Given the description of an element on the screen output the (x, y) to click on. 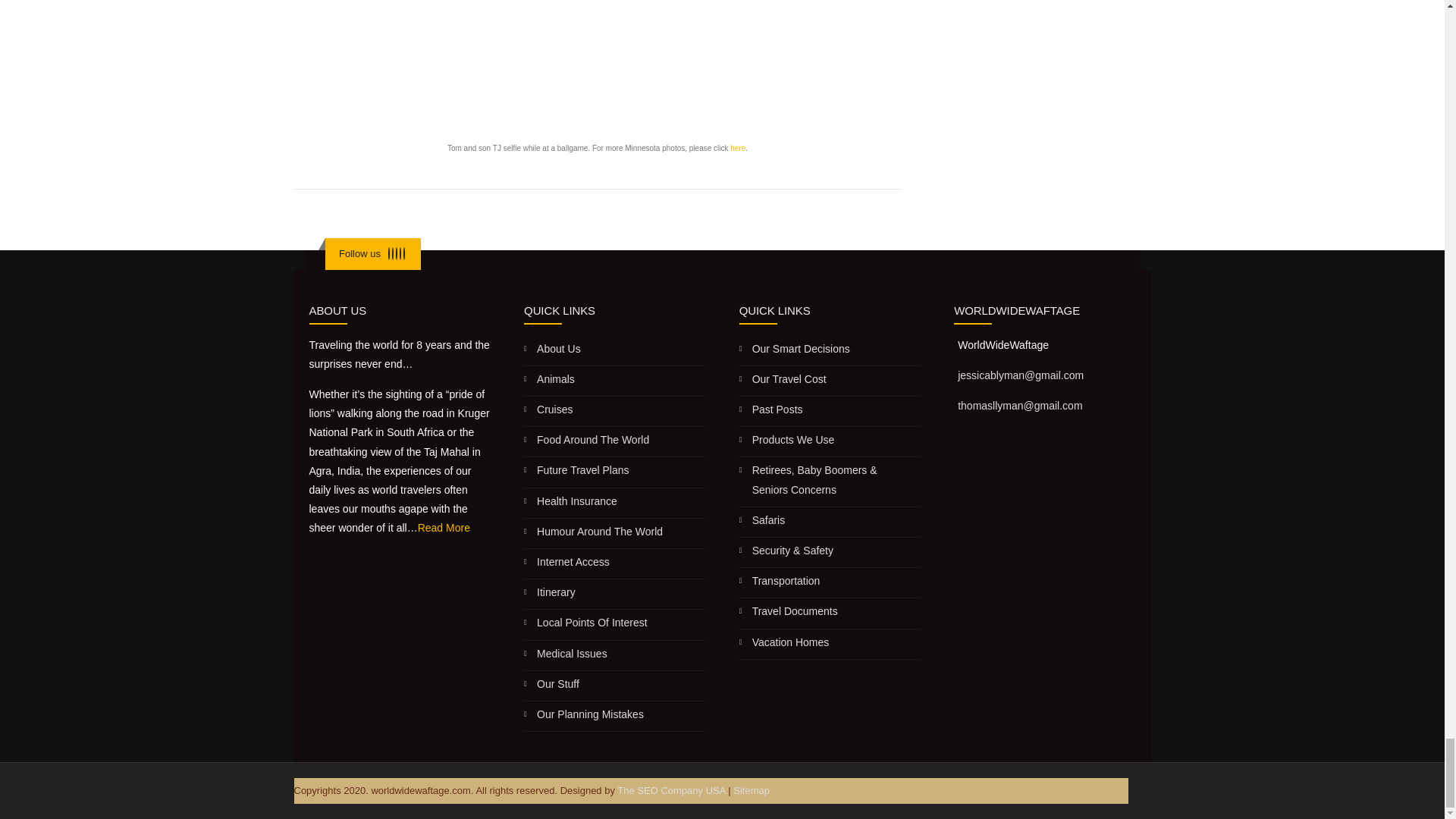
here (737, 148)
